Given the description of an element on the screen output the (x, y) to click on. 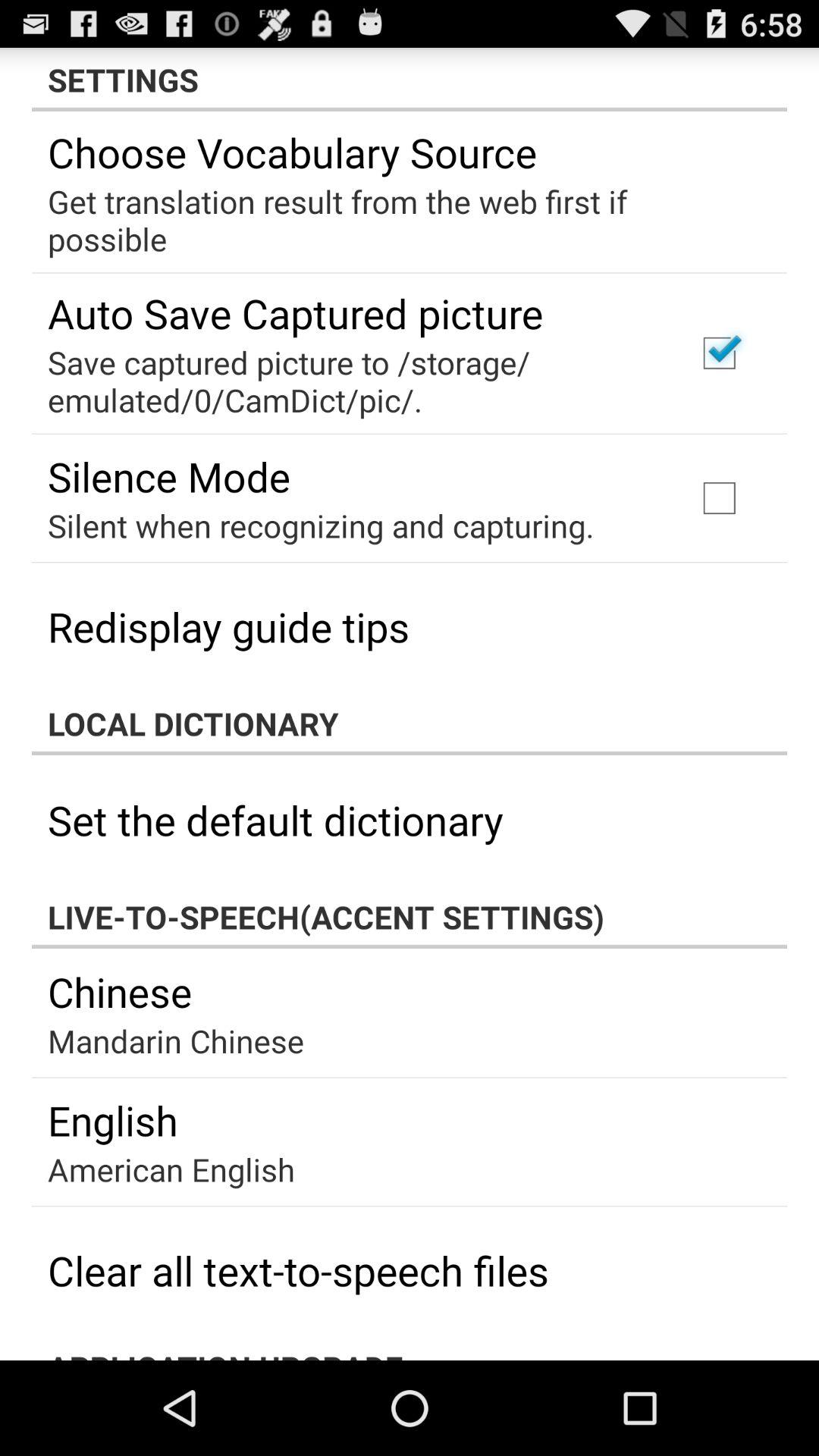
turn on the app above the set the default app (409, 723)
